Given the description of an element on the screen output the (x, y) to click on. 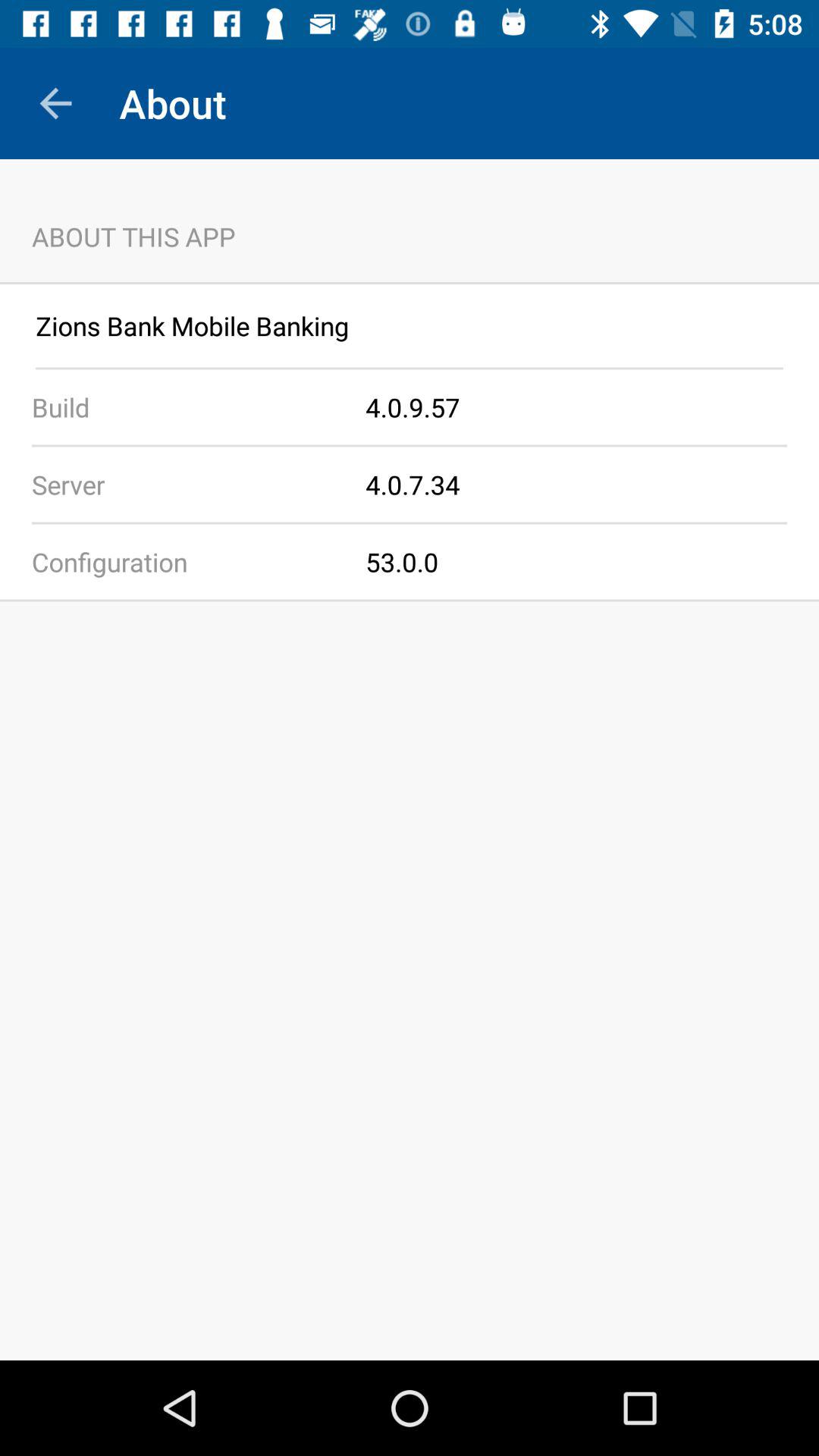
open item below zions bank mobile item (409, 368)
